Given the description of an element on the screen output the (x, y) to click on. 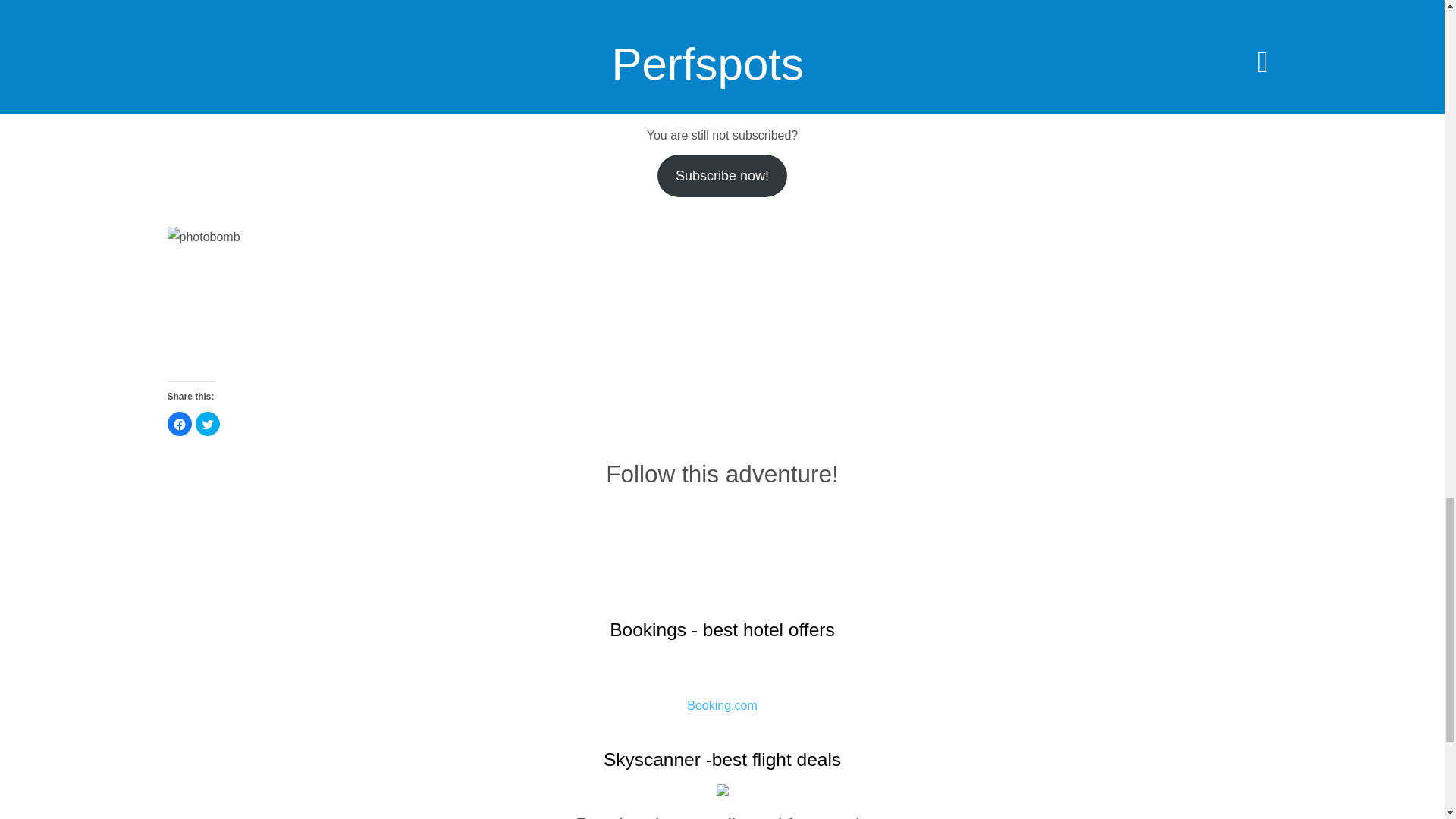
Click to share on Twitter (207, 423)
Click to share on Facebook (178, 423)
Booking.com (722, 705)
Skyscanner -best flight deals (722, 759)
Subscribe now! (722, 175)
Bookings - best hotel offers (722, 629)
